Given the description of an element on the screen output the (x, y) to click on. 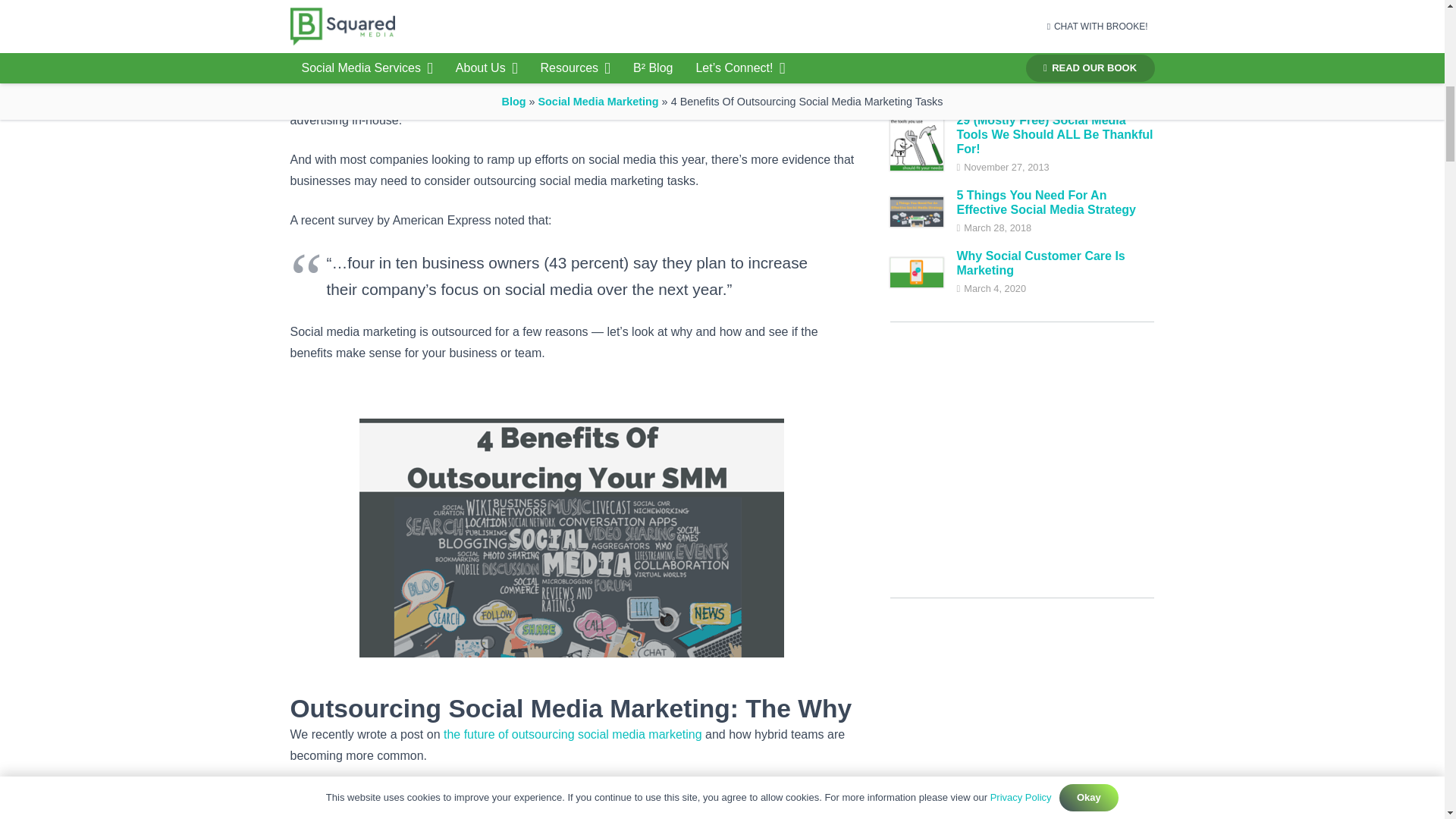
Tweet (524, 5)
Back to top (1413, 26)
Share (366, 5)
